Given the description of an element on the screen output the (x, y) to click on. 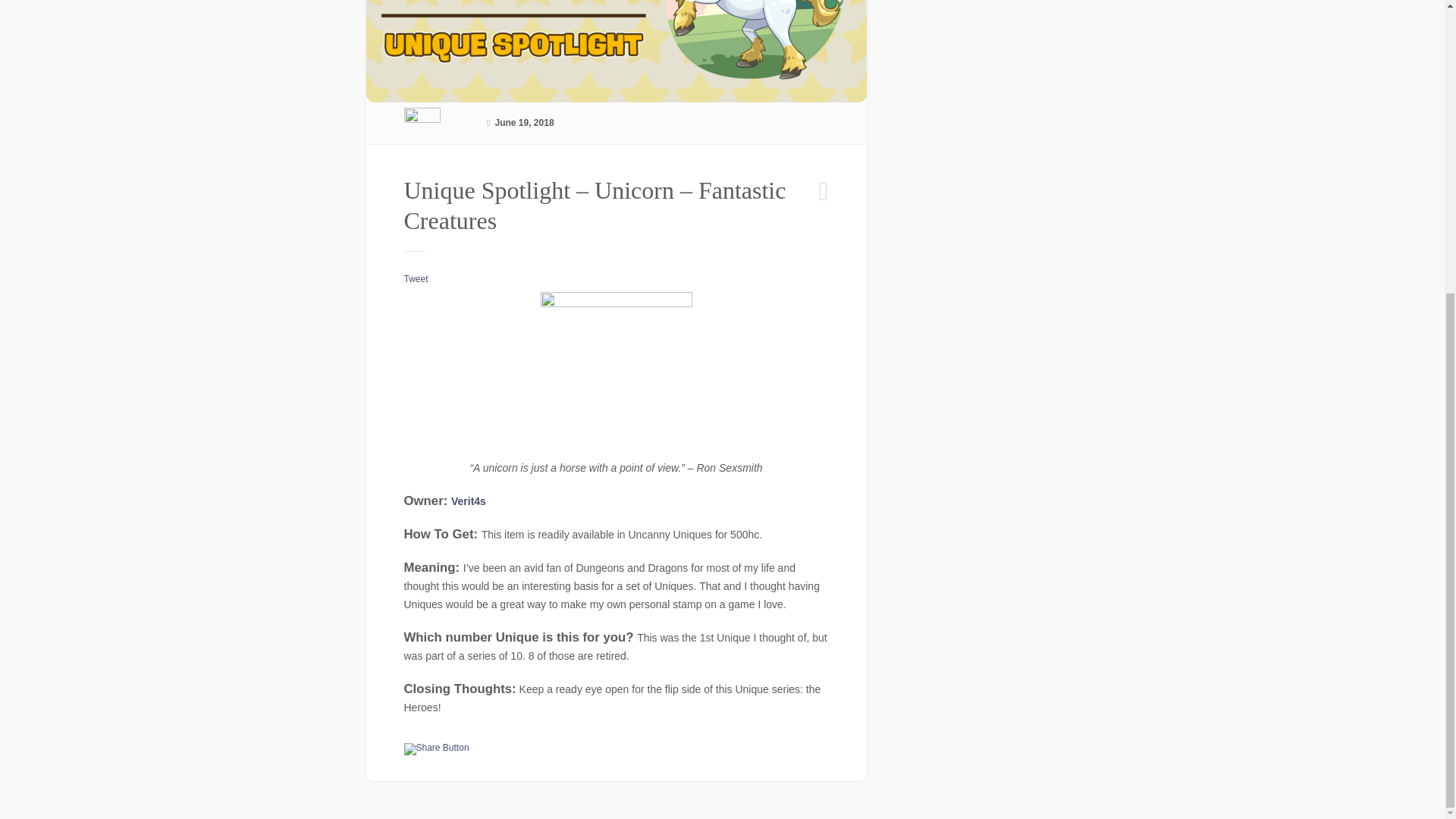
Tweet (415, 278)
Verit4s (468, 500)
